Given the description of an element on the screen output the (x, y) to click on. 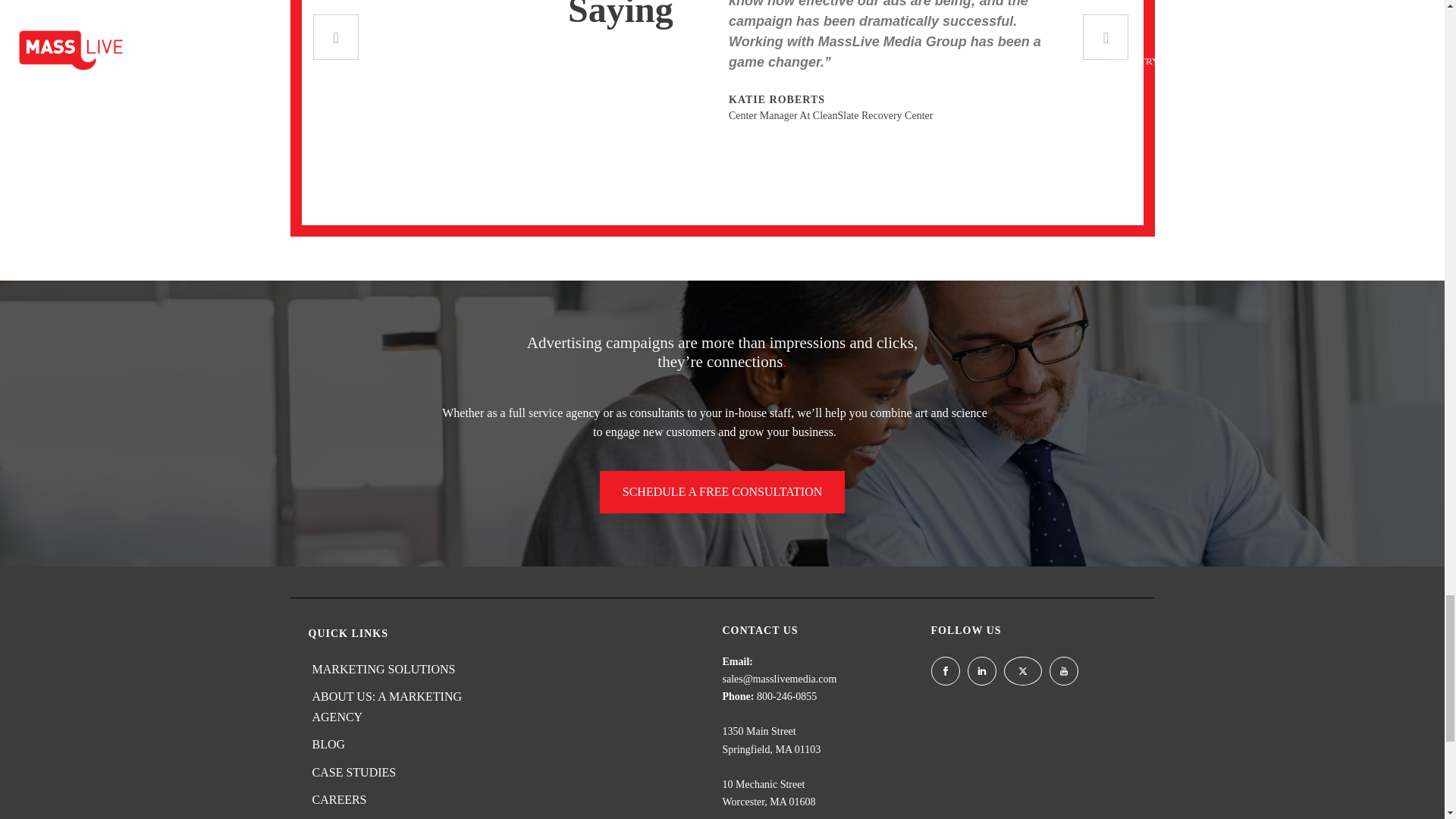
Follow Us on linkedin (981, 670)
Follow Us on youtube (1063, 670)
Follow Us on facebook (945, 670)
Follow Us on twitter (1023, 670)
